Given the description of an element on the screen output the (x, y) to click on. 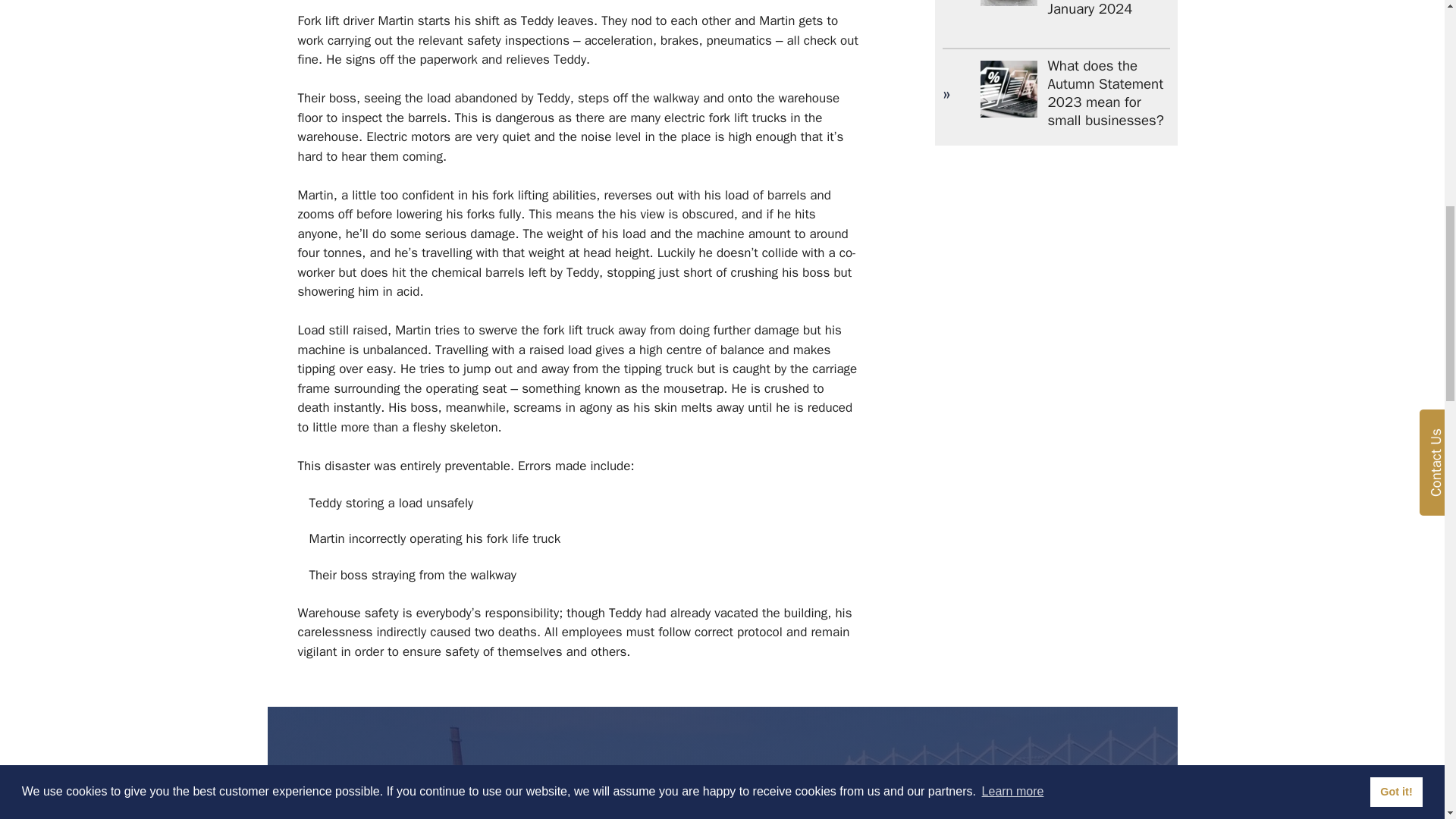
New border controls for UK imports from January 2024 (1094, 9)
